Given the description of an element on the screen output the (x, y) to click on. 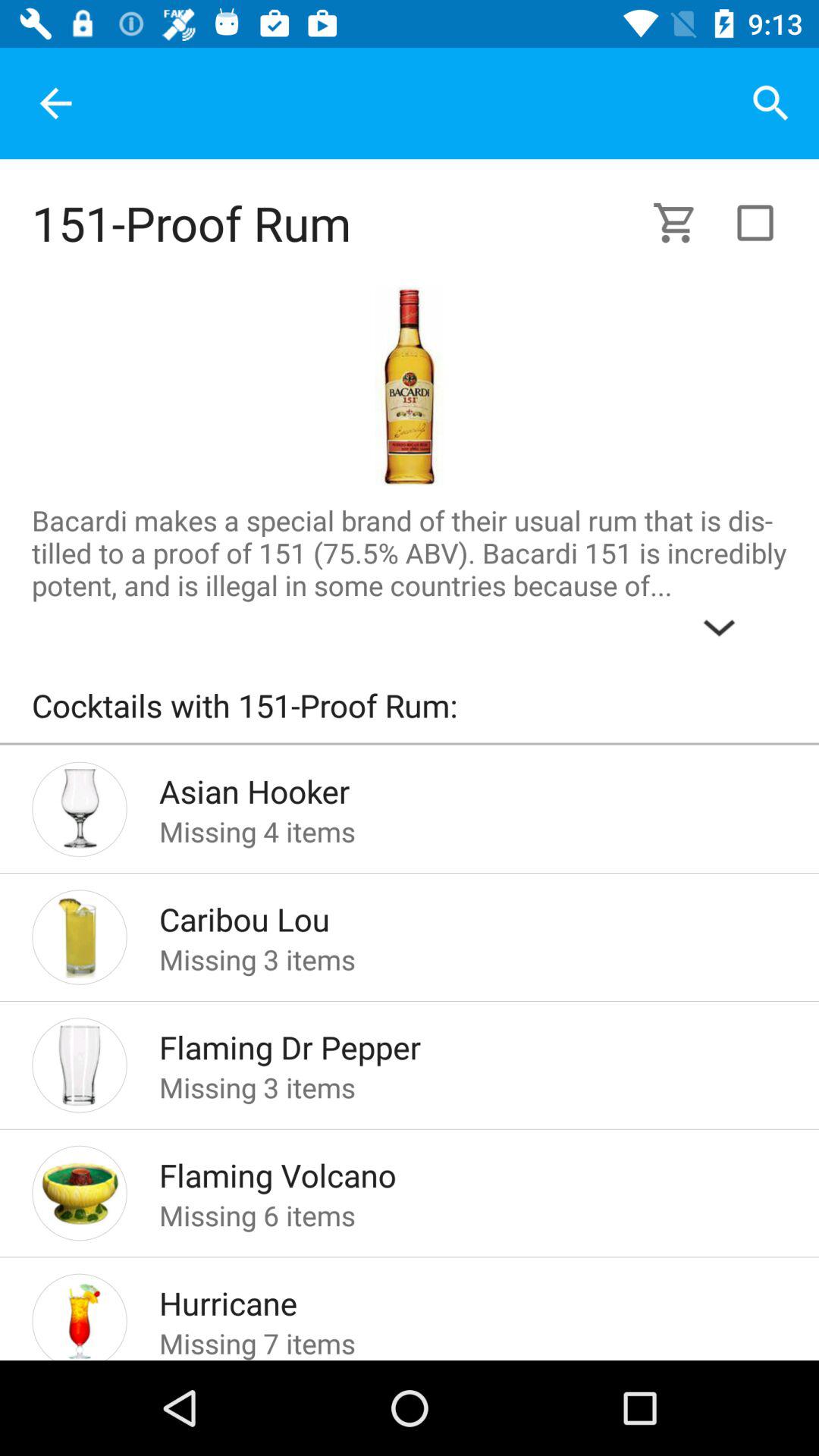
flip until the hurricane icon (449, 1298)
